Given the description of an element on the screen output the (x, y) to click on. 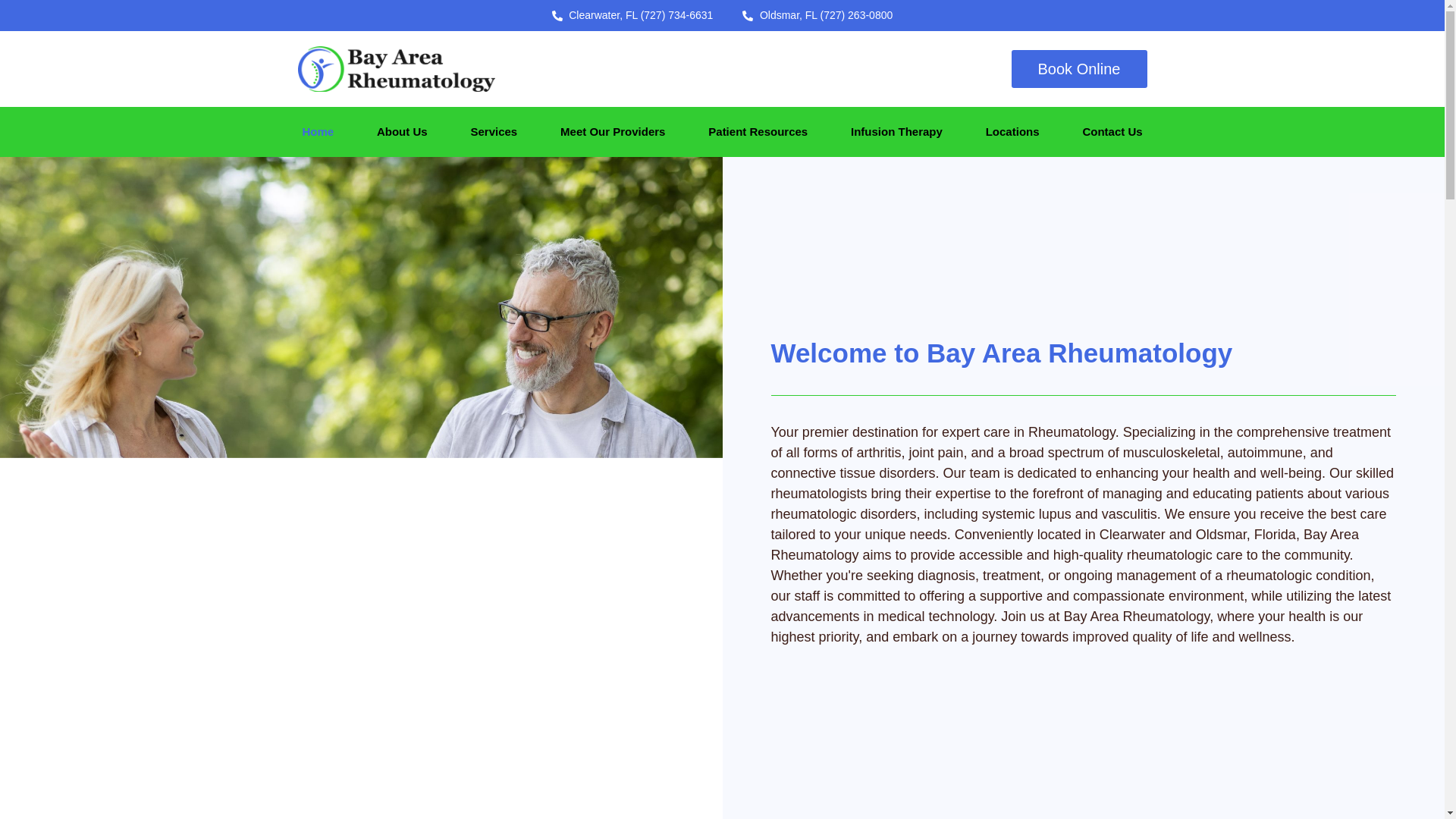
Locations (1012, 131)
Services (493, 131)
About Us (402, 131)
Infusion Therapy (896, 131)
Meet Our Providers (612, 131)
Home (317, 131)
Patient Resources (757, 131)
Book Online (1079, 68)
Contact Us (1112, 131)
